Given the description of an element on the screen output the (x, y) to click on. 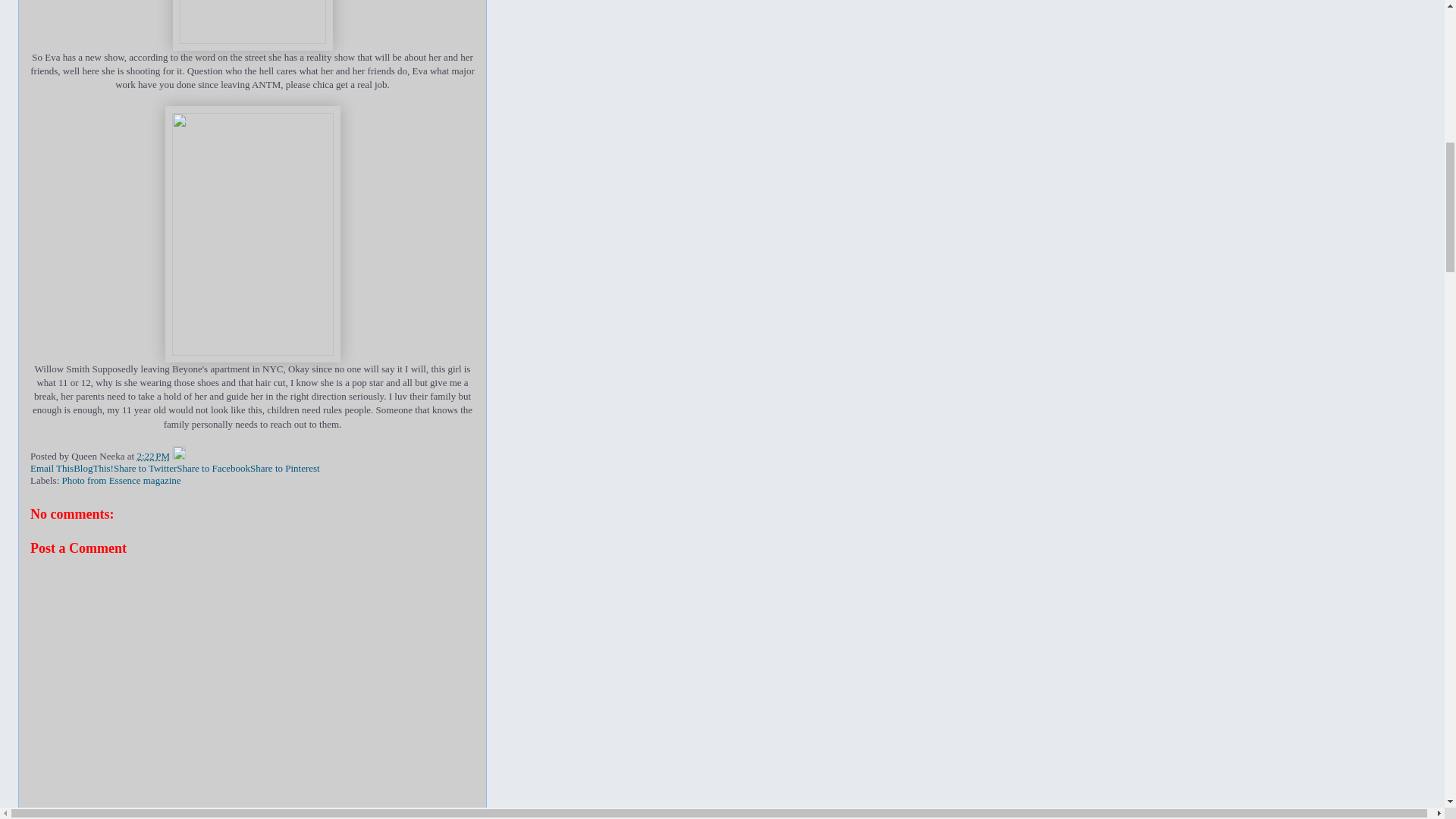
permanent link (153, 455)
BlogThis! (93, 468)
BlogThis! (93, 468)
Share to Facebook (213, 468)
Email This (52, 468)
Share to Facebook (213, 468)
Email This (52, 468)
Edit Post (178, 455)
Share to Twitter (144, 468)
Share to Pinterest (285, 468)
Share to Twitter (144, 468)
Share to Pinterest (285, 468)
Photo from Essence magazine (121, 480)
